Given the description of an element on the screen output the (x, y) to click on. 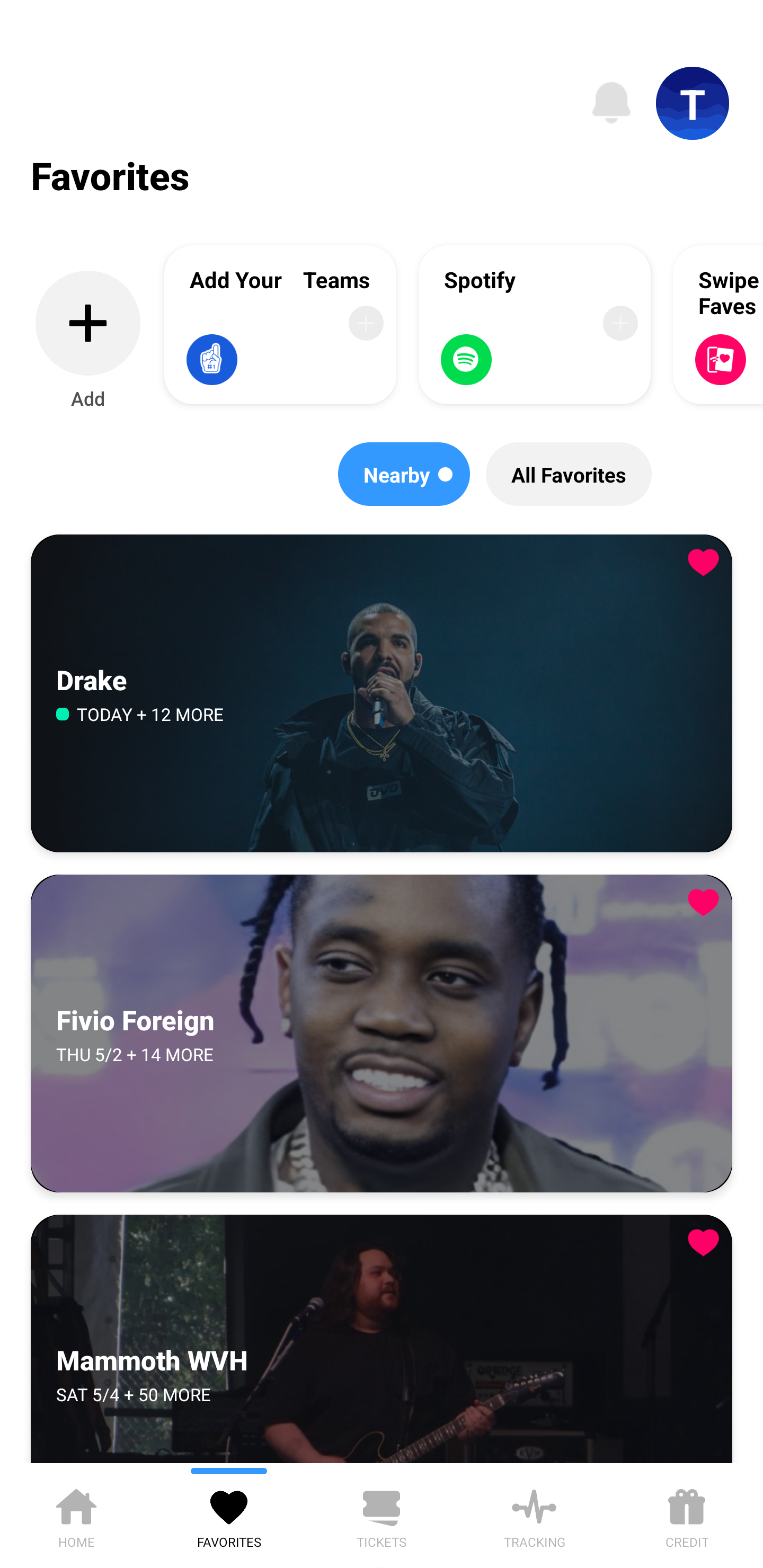
T (692, 103)
Add Your    Teams (279, 324)
Spotify (534, 324)
Add (87, 340)
Nearby (404, 474)
All Favorites (568, 474)
Drake, TODAY + 12 MORE  Drake TODAY + 12 MORE  (381, 693)
HOME (76, 1515)
FAVORITES (228, 1515)
TICKETS (381, 1515)
TRACKING (533, 1515)
CREDIT (686, 1515)
